Given the description of an element on the screen output the (x, y) to click on. 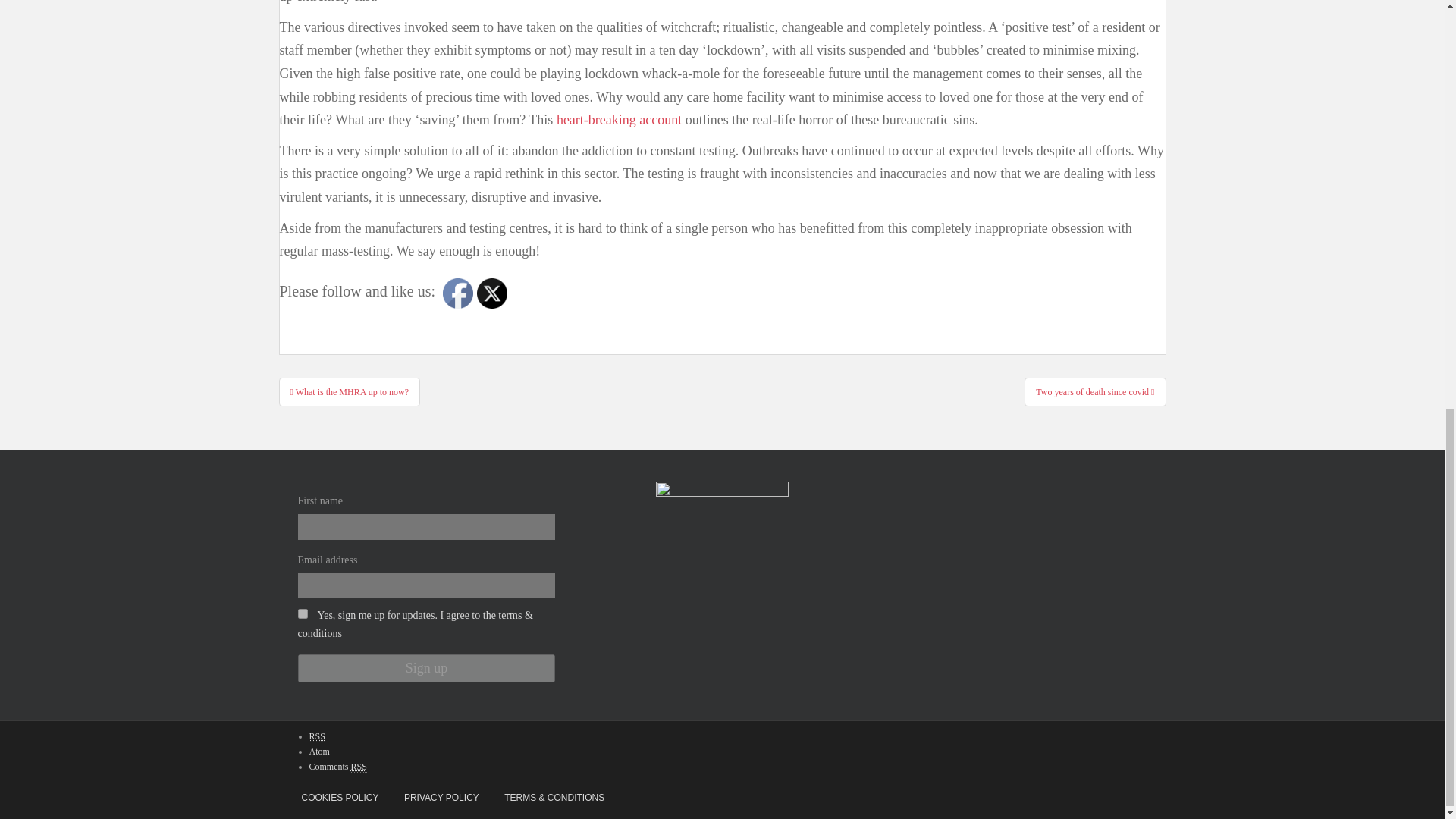
Facebook (457, 293)
Sign up (425, 668)
1 (302, 614)
Syndicate this site using RSS (316, 736)
Really Simple Syndication (358, 767)
Syndicate this site using Atom (319, 751)
The latest comments to all posts in RSS (337, 767)
Twitter (491, 293)
